Given the description of an element on the screen output the (x, y) to click on. 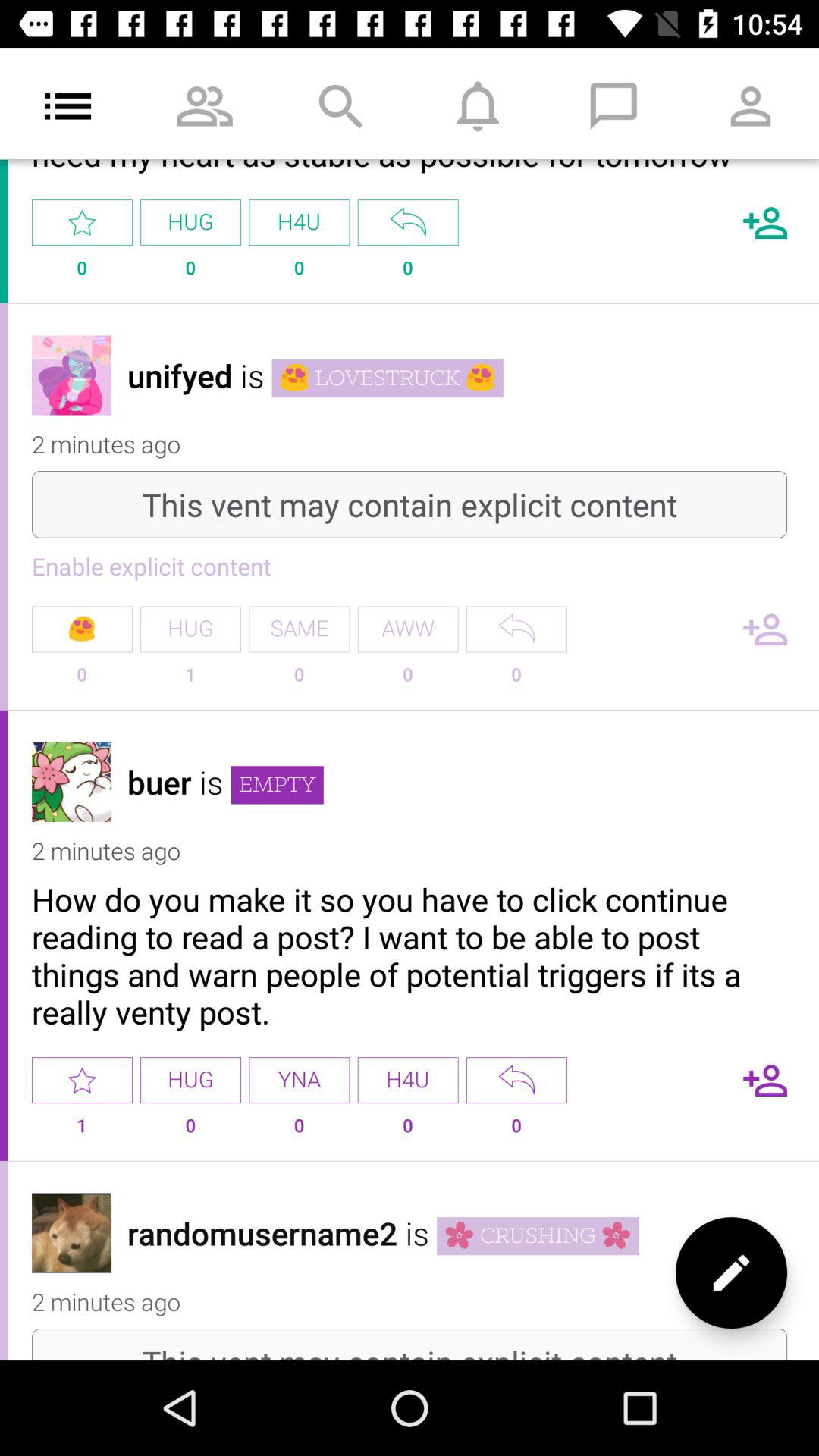
te conoceran de verdad (407, 222)
